Given the description of an element on the screen output the (x, y) to click on. 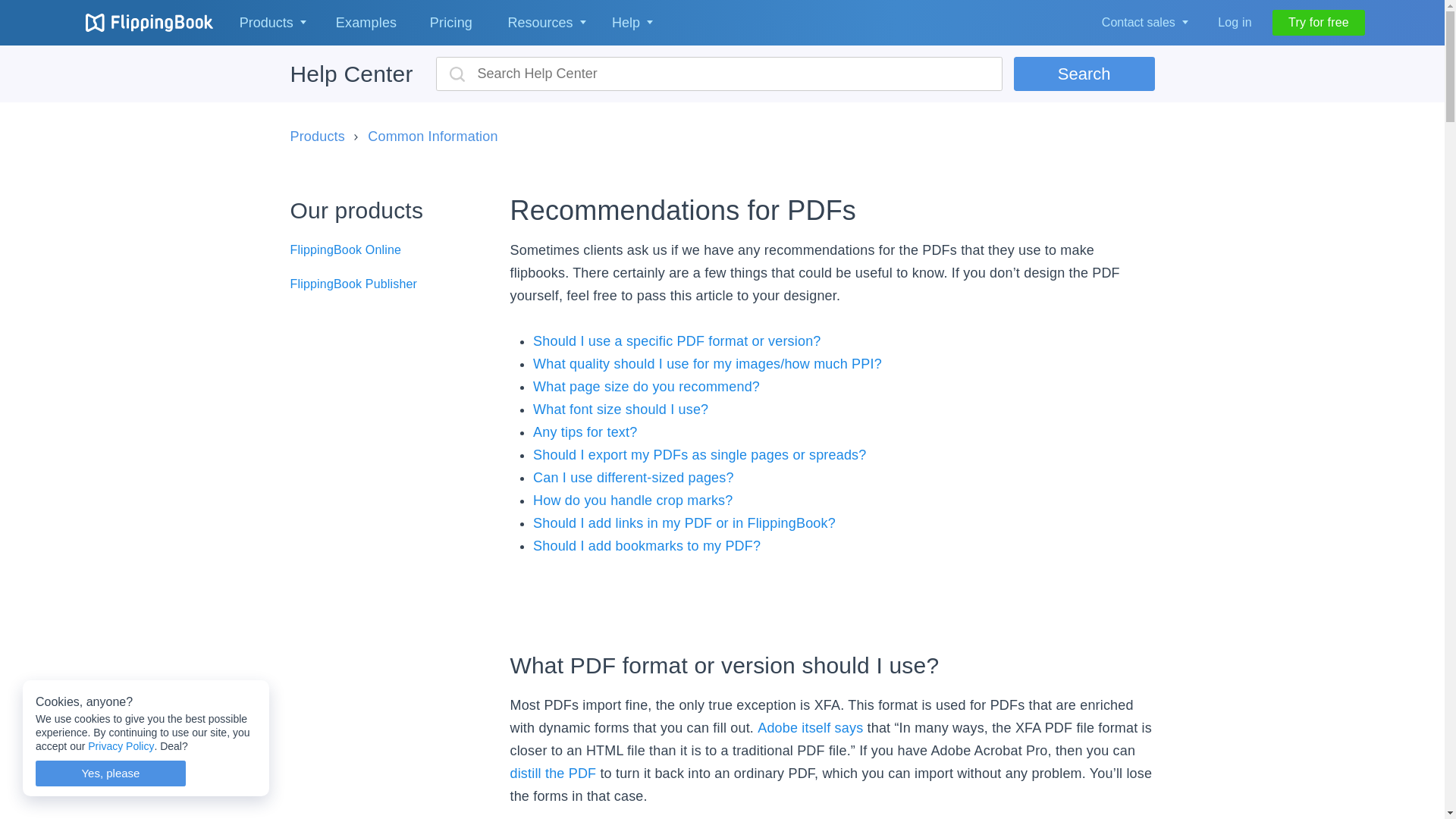
Examples (365, 22)
Help (629, 22)
Contact sales (1138, 22)
Log in (1235, 22)
Resources (540, 22)
Pricing (450, 22)
Products (269, 22)
Contact sales (1141, 22)
Resources (543, 22)
Products (267, 22)
